Given the description of an element on the screen output the (x, y) to click on. 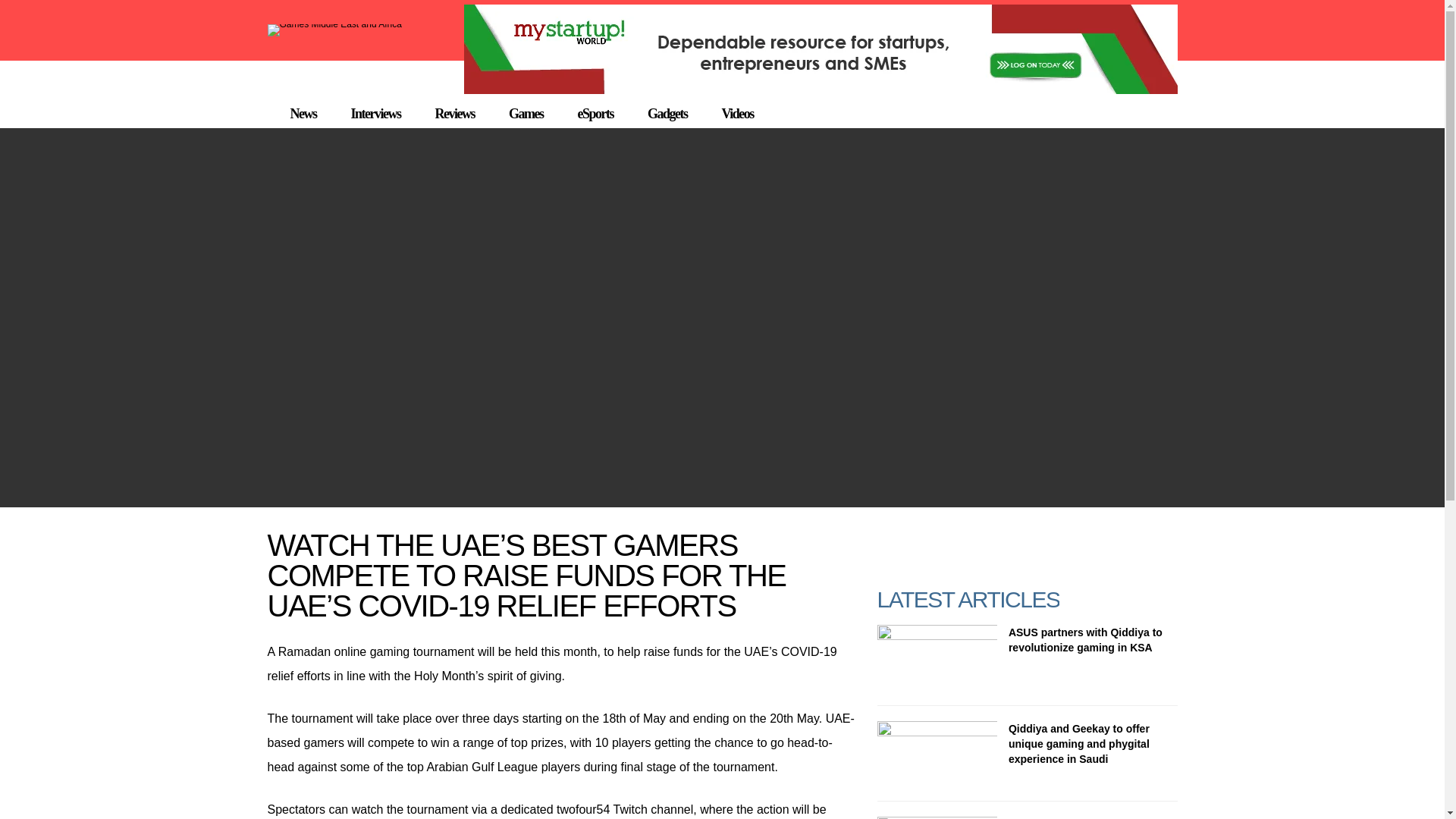
Interviews (375, 113)
Games Middle East and Africa (333, 23)
eSports (594, 113)
ASUS partners with Qiddiya to revolutionize gaming in KSA (1085, 639)
ASUS partners with Qiddiya to revolutionize gaming in KSA (935, 657)
Games (525, 113)
Videos (736, 113)
